Given the description of an element on the screen output the (x, y) to click on. 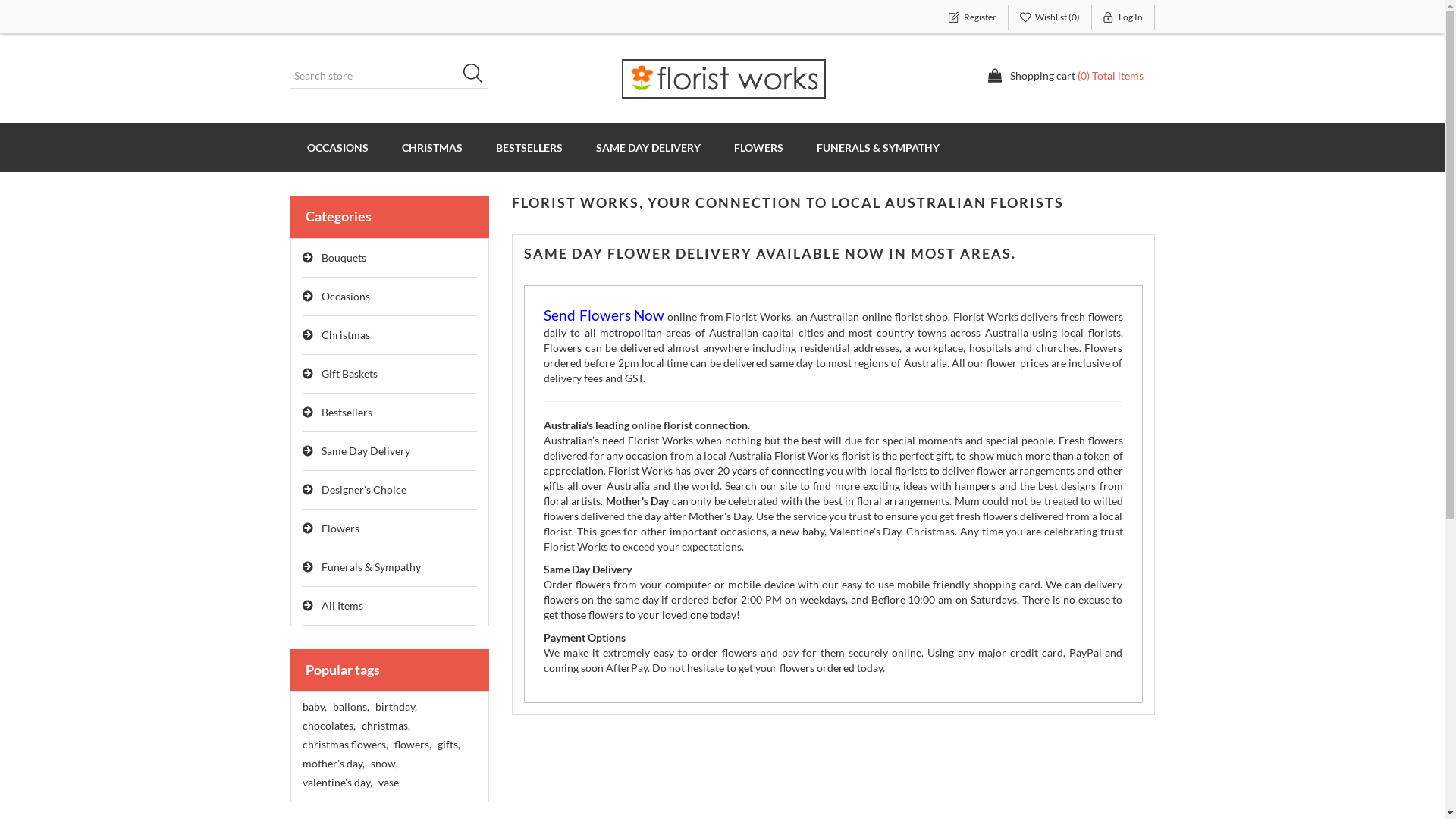
gifts, Element type: text (447, 744)
flowers, Element type: text (412, 744)
CHRISTMAS Element type: text (432, 147)
FLOWERS Element type: text (758, 147)
ballons, Element type: text (350, 706)
valentine's day, Element type: text (336, 782)
OCCASIONS Element type: text (336, 147)
Designer's Choice Element type: text (388, 489)
FUNERALS & SYMPATHY Element type: text (877, 147)
Same Day Delivery Element type: text (388, 451)
birthday, Element type: text (395, 706)
mother's day, Element type: text (332, 763)
BESTSELLERS Element type: text (529, 147)
Bestsellers Element type: text (388, 412)
Log In Element type: text (1123, 17)
Gift Baskets Element type: text (388, 373)
Flowers Element type: text (388, 528)
chocolates, Element type: text (327, 725)
SAME DAY DELIVERY Element type: text (648, 147)
vase Element type: text (387, 782)
Wishlist (0) Element type: text (1050, 17)
All Items Element type: text (388, 605)
Funerals & Sympathy Element type: text (388, 567)
Shopping cart (0) Total items Element type: text (1065, 75)
Occasions Element type: text (388, 296)
Register Element type: text (971, 17)
christmas, Element type: text (384, 725)
Christmas Element type: text (388, 335)
Send Flowers Now Element type: text (603, 316)
baby, Element type: text (313, 706)
christmas flowers, Element type: text (344, 744)
snow, Element type: text (383, 763)
Bouquets Element type: text (388, 257)
